Given the description of an element on the screen output the (x, y) to click on. 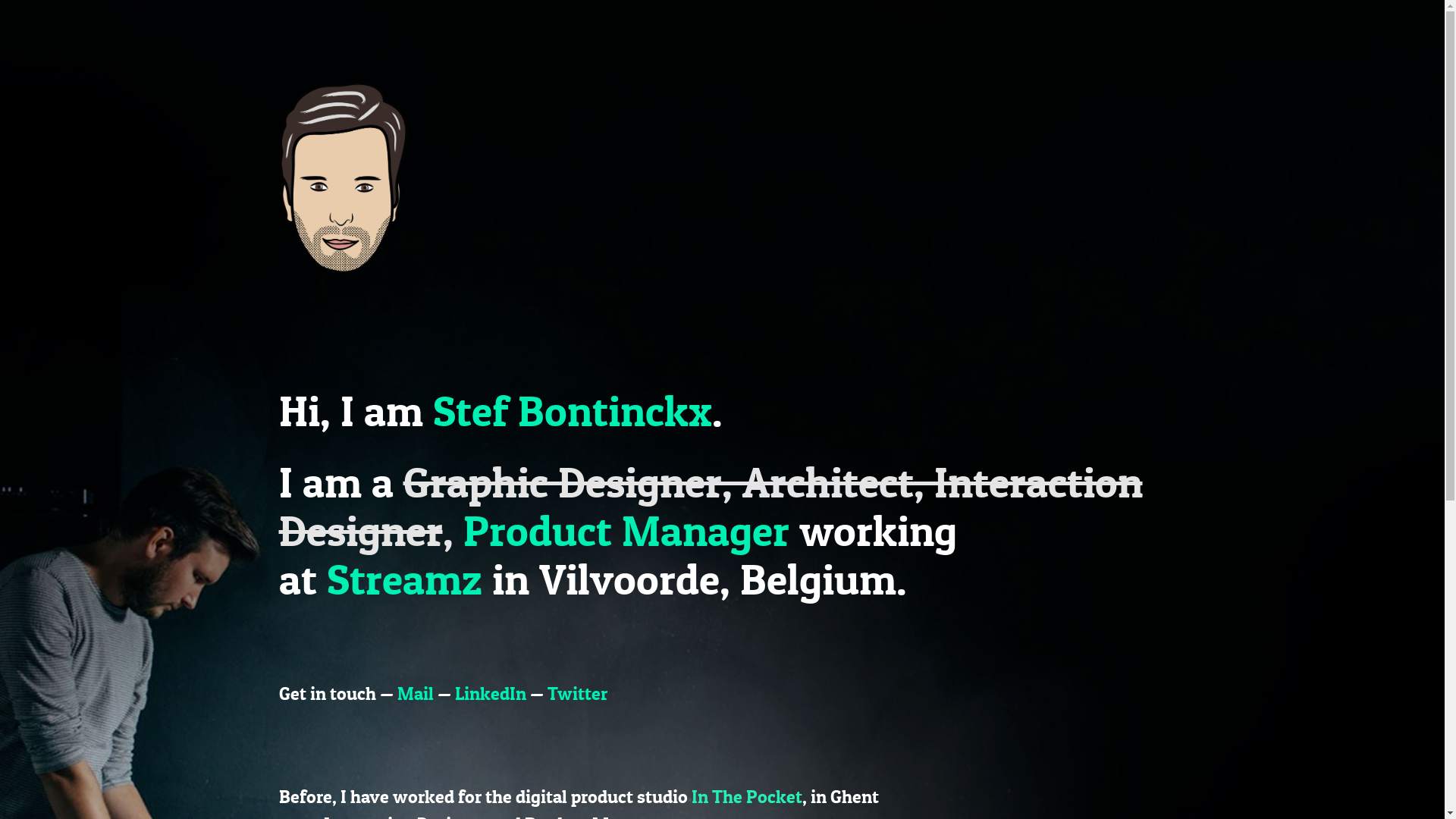
In The Pocket Element type: text (746, 796)
Mail Element type: text (415, 693)
Streamz Element type: text (403, 579)
Twitter Element type: text (577, 693)
LinkedIn Element type: text (490, 693)
